Given the description of an element on the screen output the (x, y) to click on. 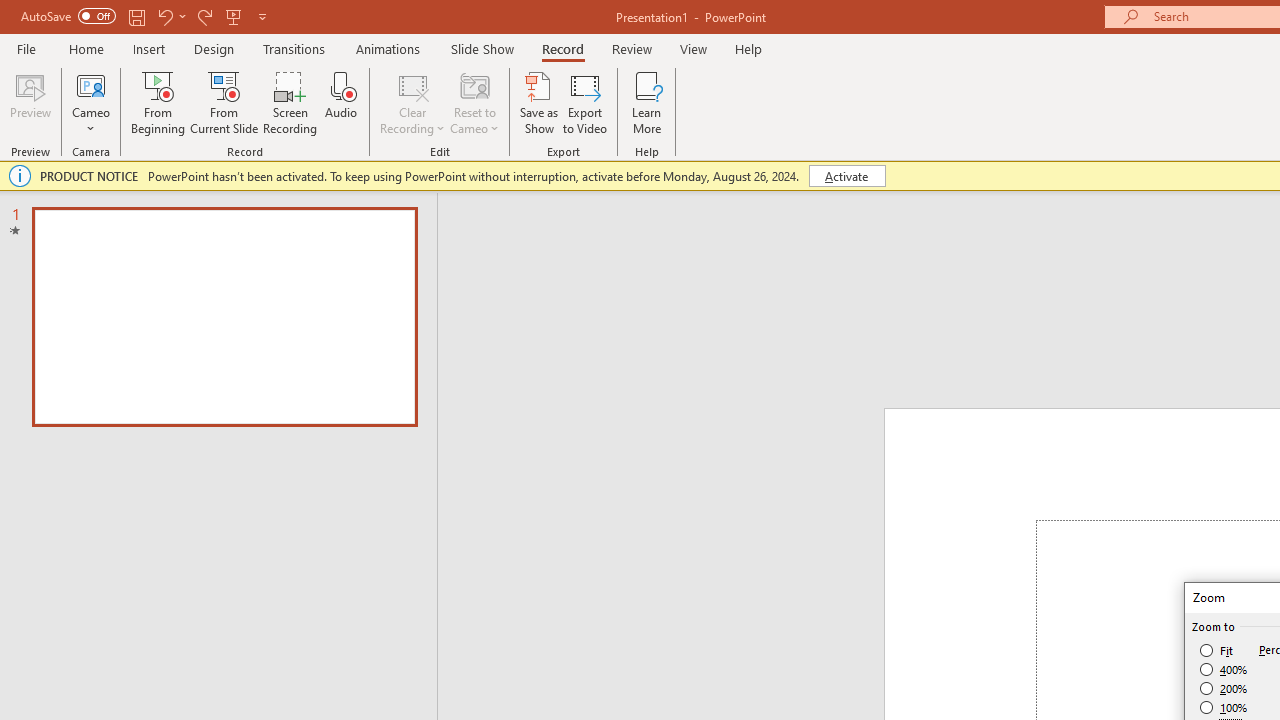
Reset to Cameo (474, 102)
From Beginning... (158, 102)
400% (1224, 669)
